Given the description of an element on the screen output the (x, y) to click on. 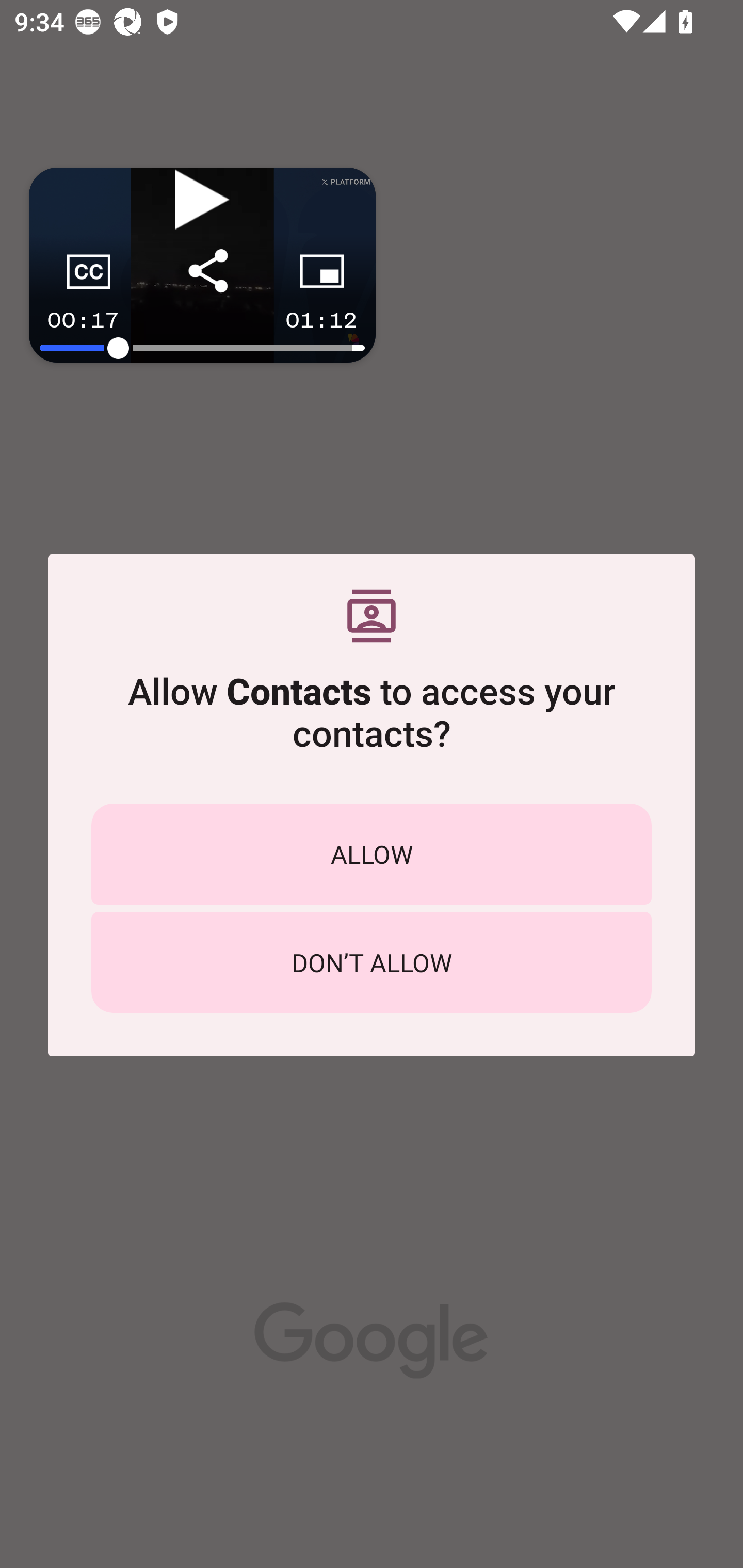
ALLOW (371, 853)
DON’T ALLOW (371, 962)
